Given the description of an element on the screen output the (x, y) to click on. 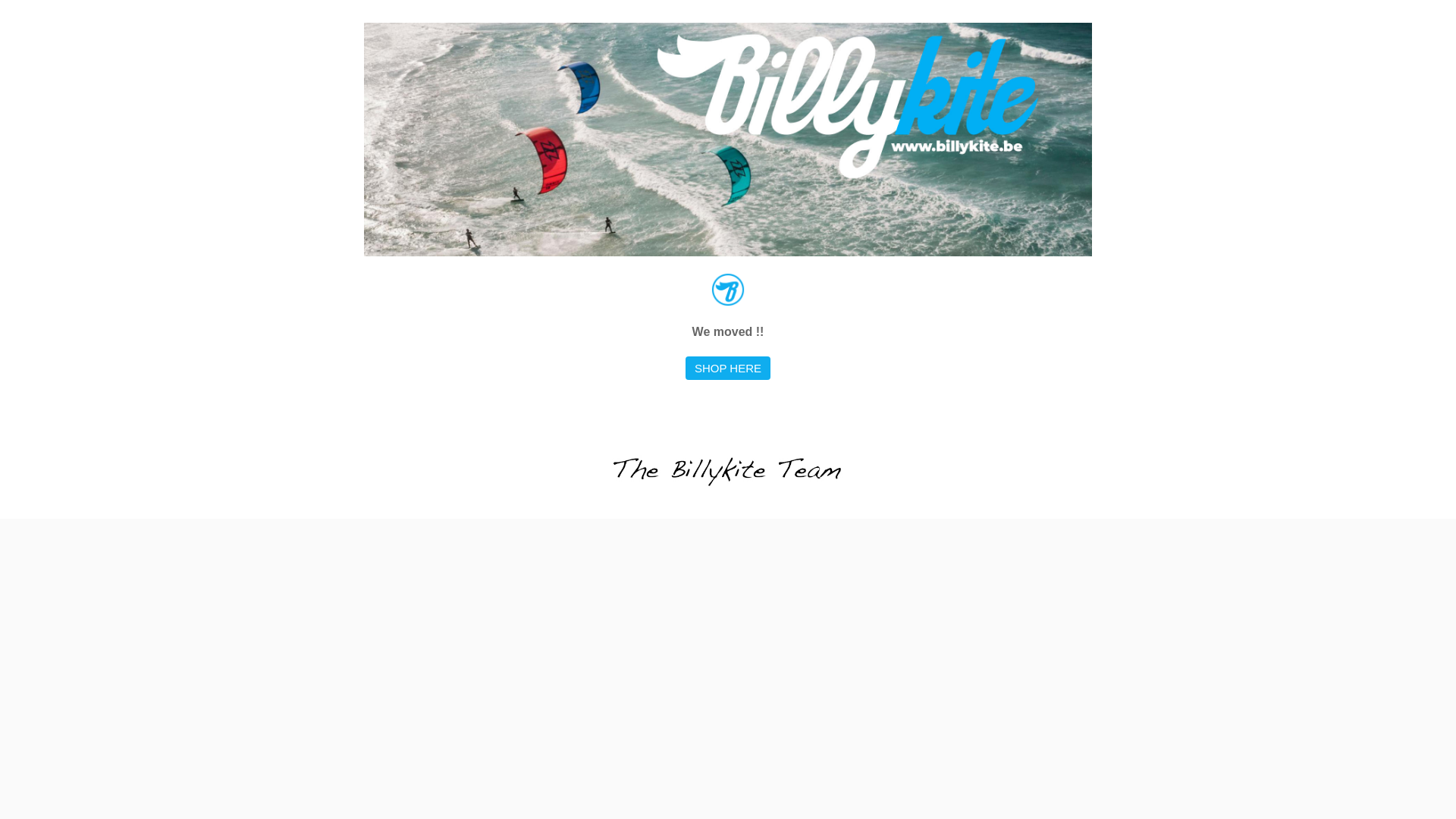
SHOP HERE Element type: text (727, 367)
